Given the description of an element on the screen output the (x, y) to click on. 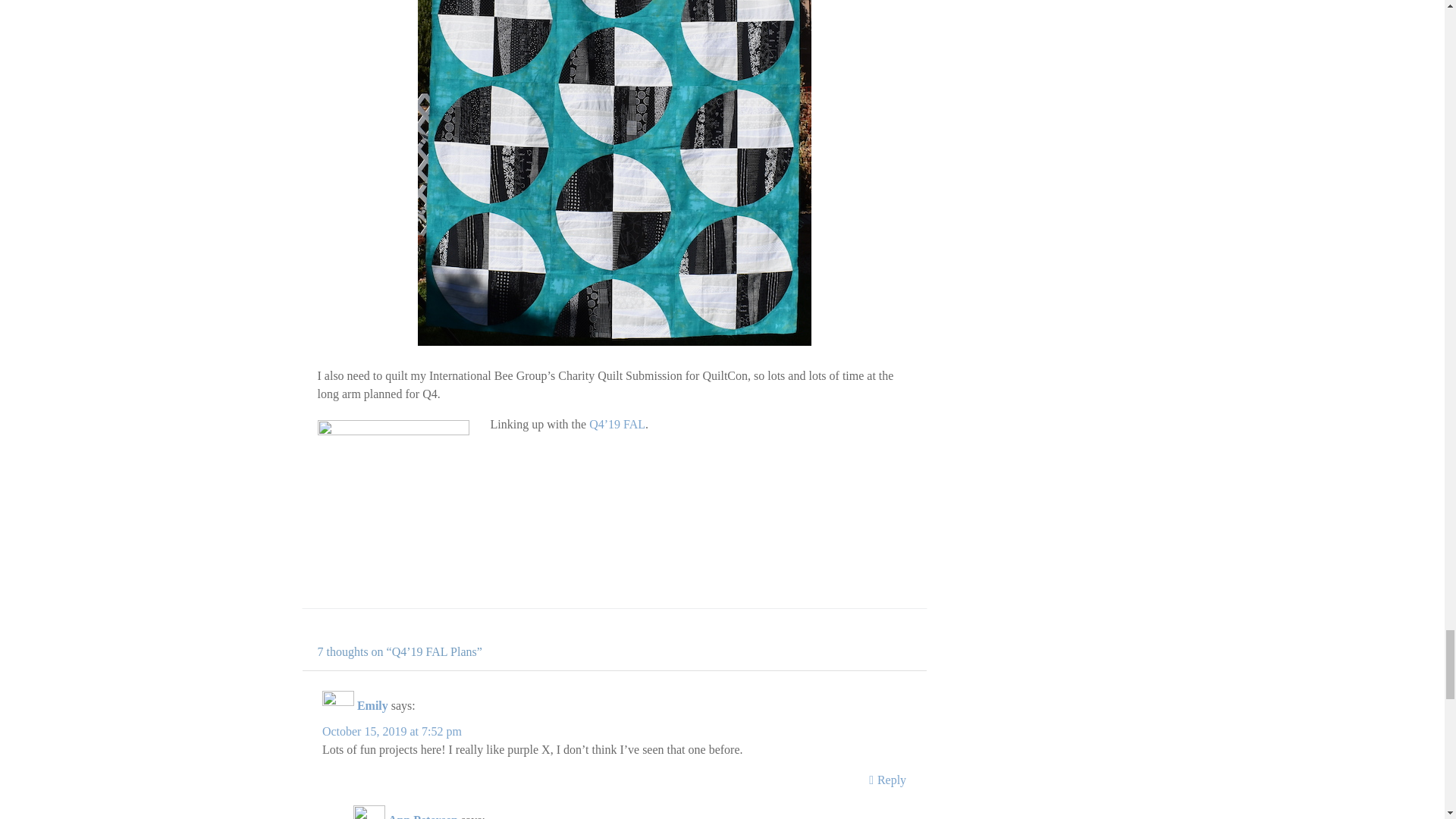
October 15, 2019 at 7:52 pm (391, 730)
Emily (372, 705)
Reply (887, 779)
Ann Petersen (423, 816)
